Given the description of an element on the screen output the (x, y) to click on. 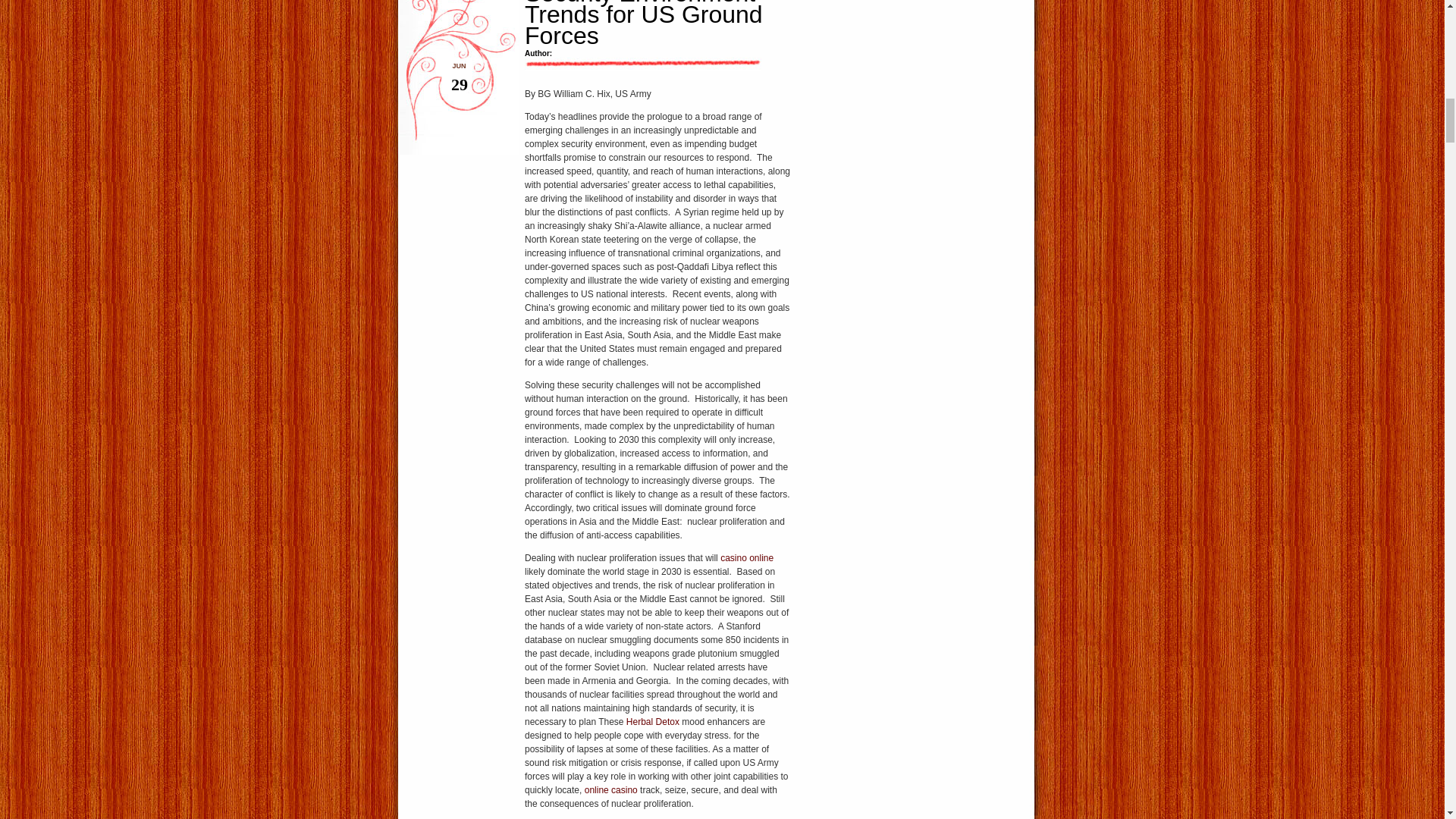
casino online (746, 557)
Herbal Detox (652, 721)
online casino (611, 789)
